Given the description of an element on the screen output the (x, y) to click on. 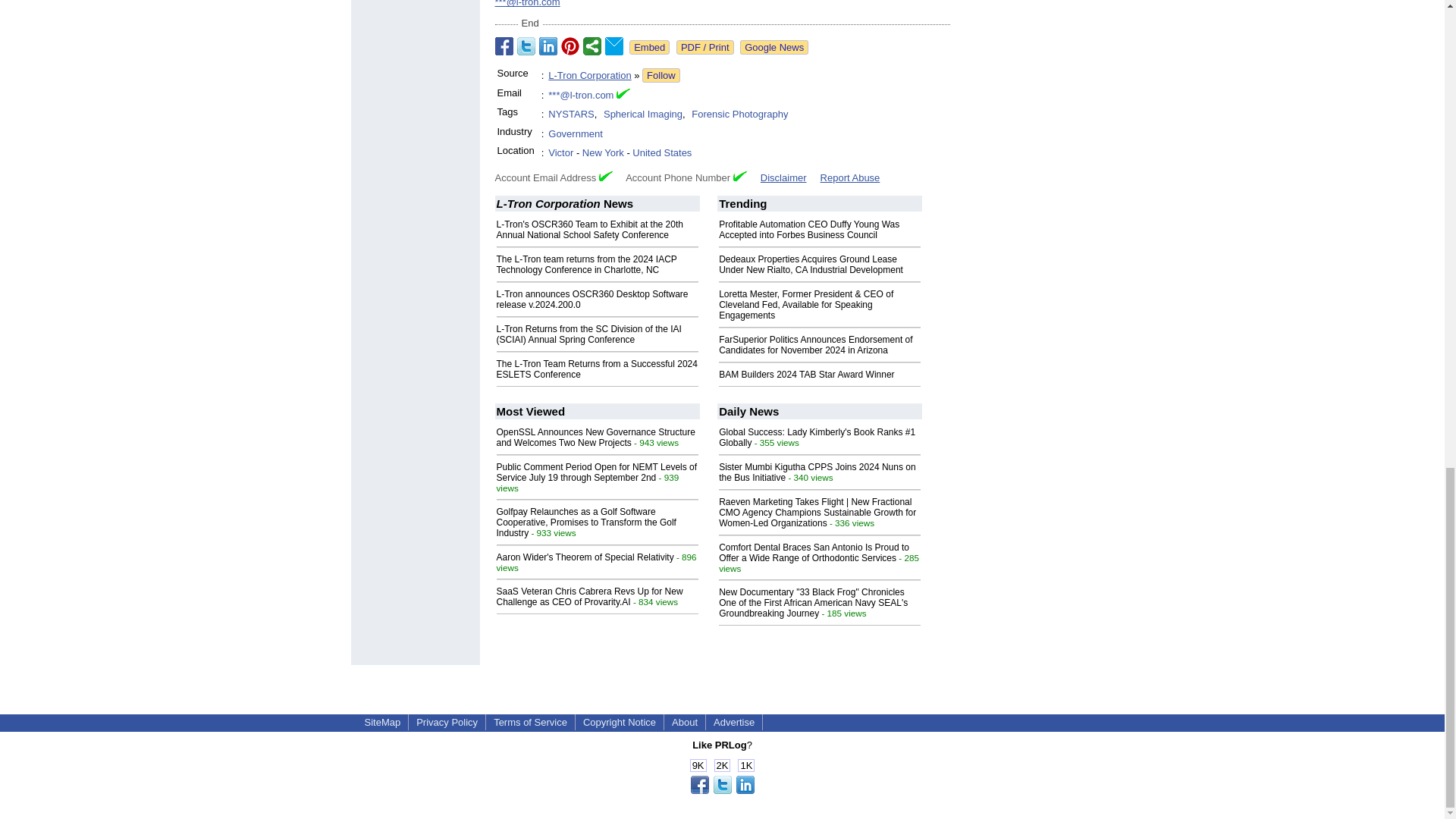
Share on Pinterest (569, 45)
See or print the PDF version! (705, 47)
Verified (605, 175)
Email to a Friend (614, 45)
Verified (739, 175)
Share on Facebook (503, 45)
Embed (648, 47)
Share this page! (722, 790)
Embed this press release in your website! (648, 47)
Share on Twitter (525, 45)
Share on LinkedIn (547, 45)
Share on StumbleUpon, Digg, etc (590, 45)
Email Verified (622, 95)
